Given the description of an element on the screen output the (x, y) to click on. 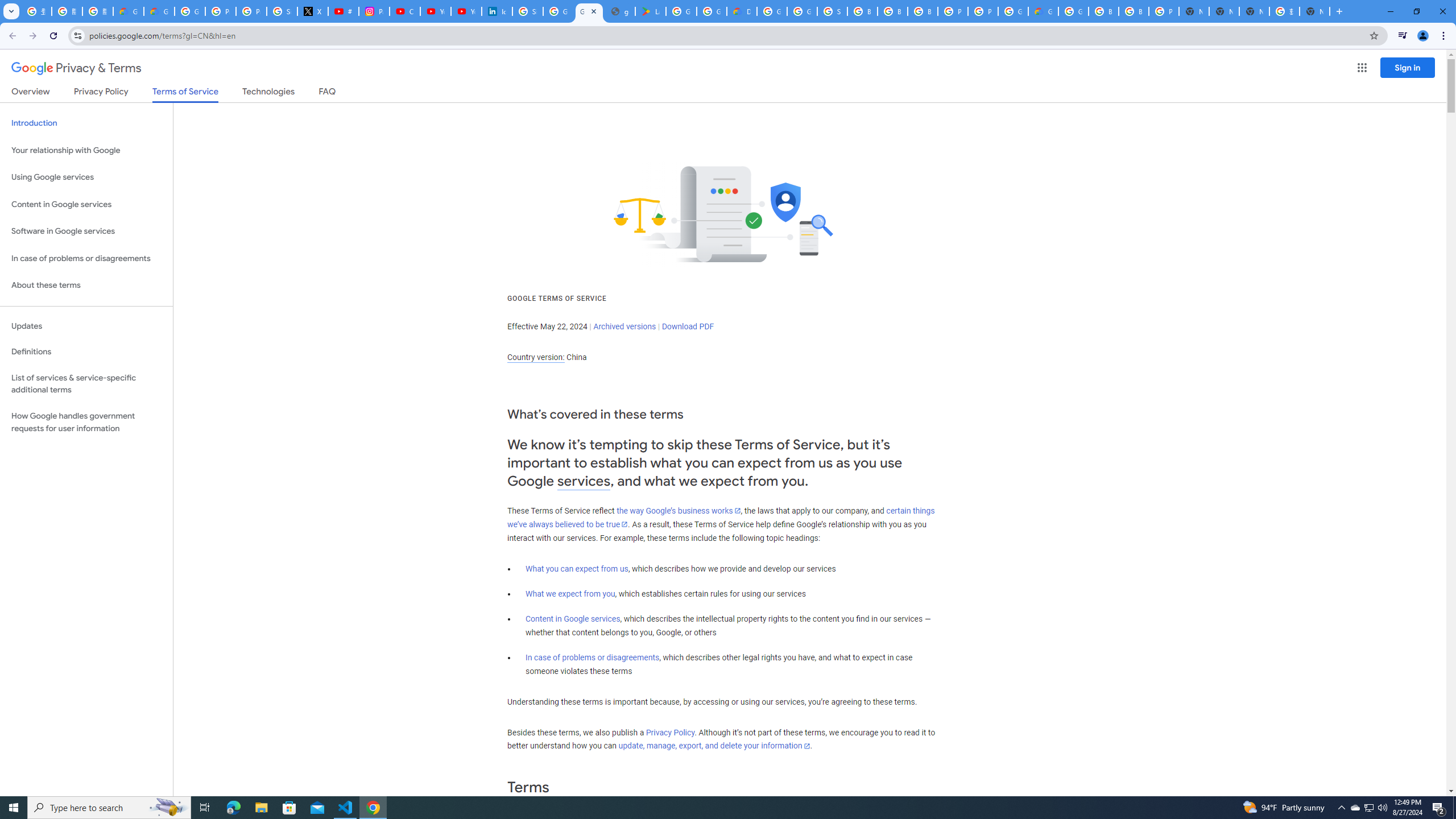
Google Cloud Platform (1012, 11)
Privacy & Terms (76, 68)
update, manage, export, and delete your information (714, 746)
Privacy Help Center - Policies Help (251, 11)
Introduction (86, 122)
System (6, 6)
Google Cloud Privacy Notice (158, 11)
Chrome (1445, 35)
How Google handles government requests for user information (86, 422)
Close (593, 11)
